Given the description of an element on the screen output the (x, y) to click on. 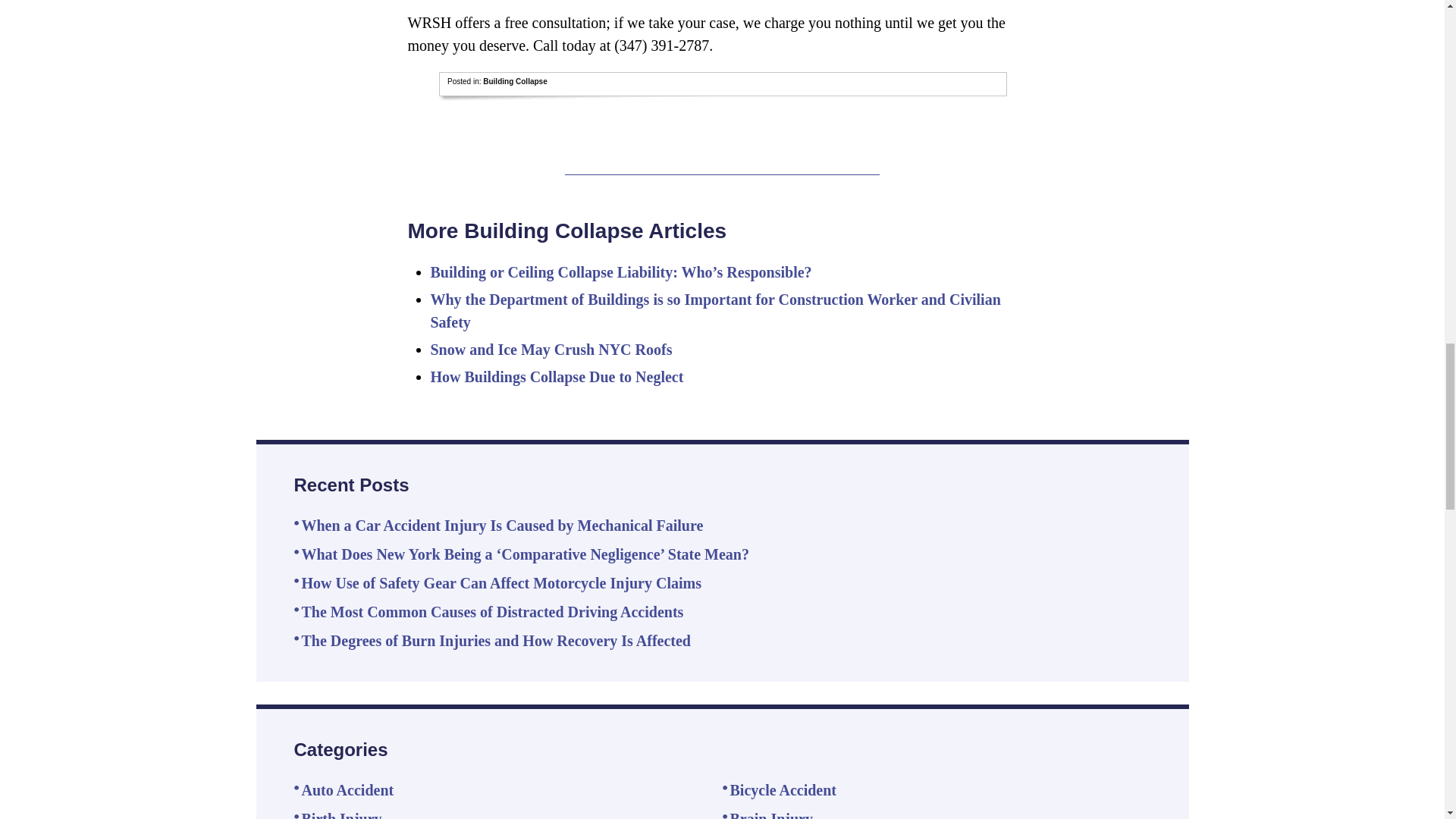
The Most Common Causes of Distracted Driving Accidents (492, 611)
The Degrees of Burn Injuries and How Recovery Is Affected (495, 640)
Auto Accident (347, 790)
Bicycle Accident (782, 790)
Brain Injury (770, 814)
Building Collapse (515, 80)
Birth Injury (341, 814)
How Buildings Collapse Due to Neglect (557, 376)
When a Car Accident Injury Is Caused by Mechanical Failure (502, 524)
Snow and Ice May Crush NYC Roofs (551, 349)
How Use of Safety Gear Can Affect Motorcycle Injury Claims (501, 582)
